Given the description of an element on the screen output the (x, y) to click on. 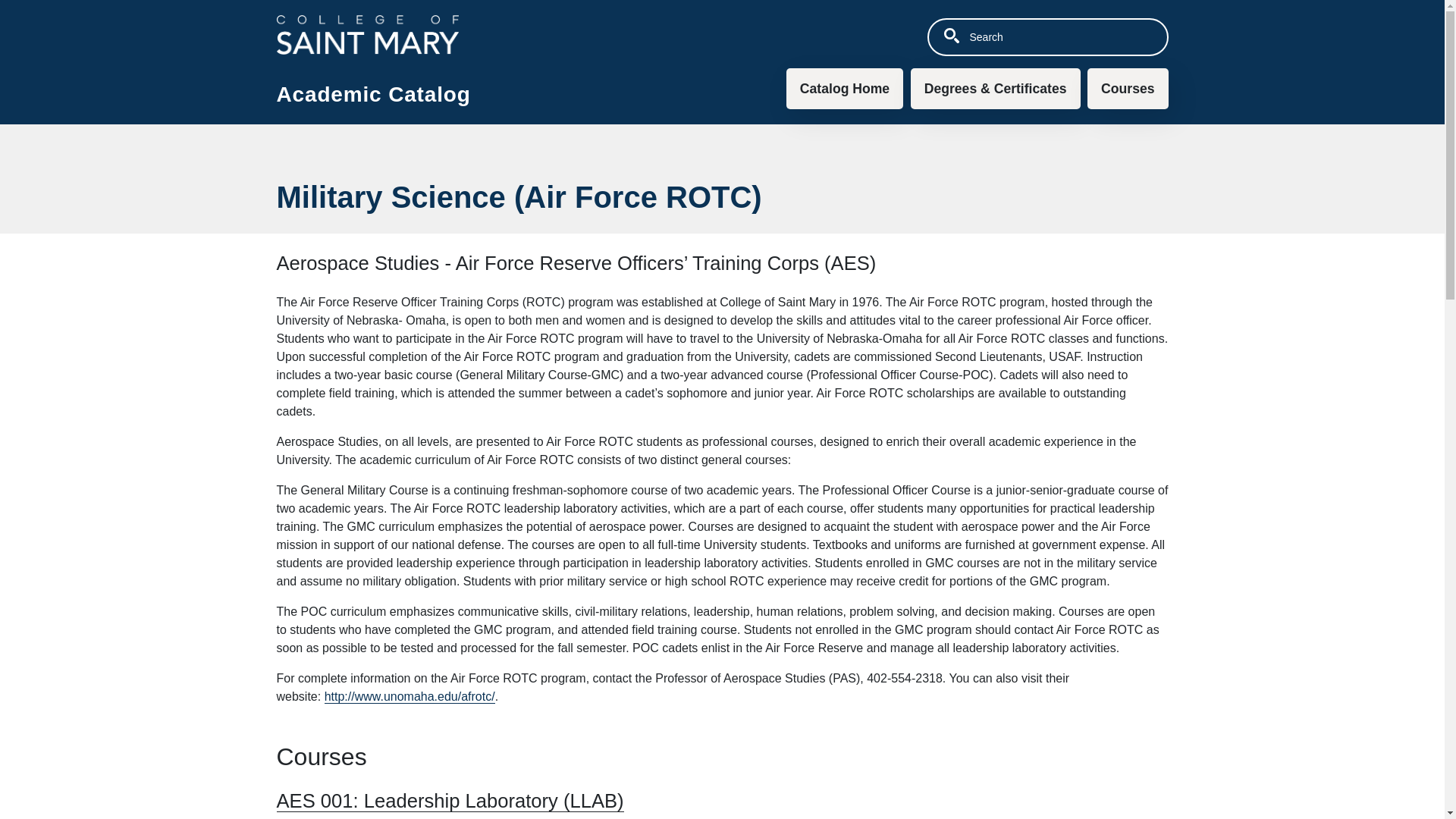
Search (950, 35)
Catalog Home (844, 87)
Courses (1127, 87)
Search (950, 35)
